Given the description of an element on the screen output the (x, y) to click on. 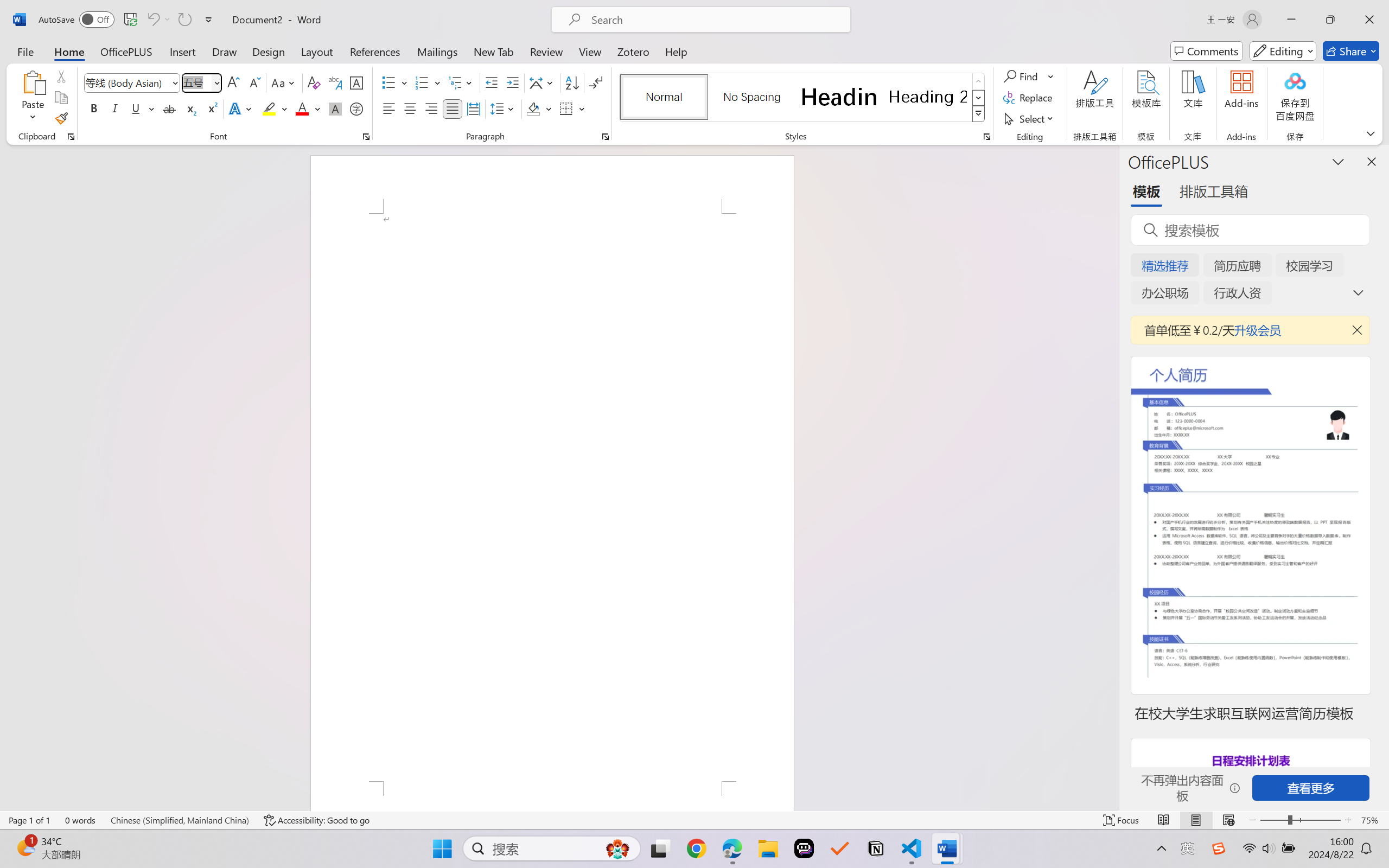
Row up (978, 81)
Paragraph... (605, 136)
Sort... (571, 82)
Microsoft search (715, 19)
Open (215, 82)
Line and Paragraph Spacing (503, 108)
Styles... (986, 136)
Distributed (473, 108)
Layout (316, 51)
